Given the description of an element on the screen output the (x, y) to click on. 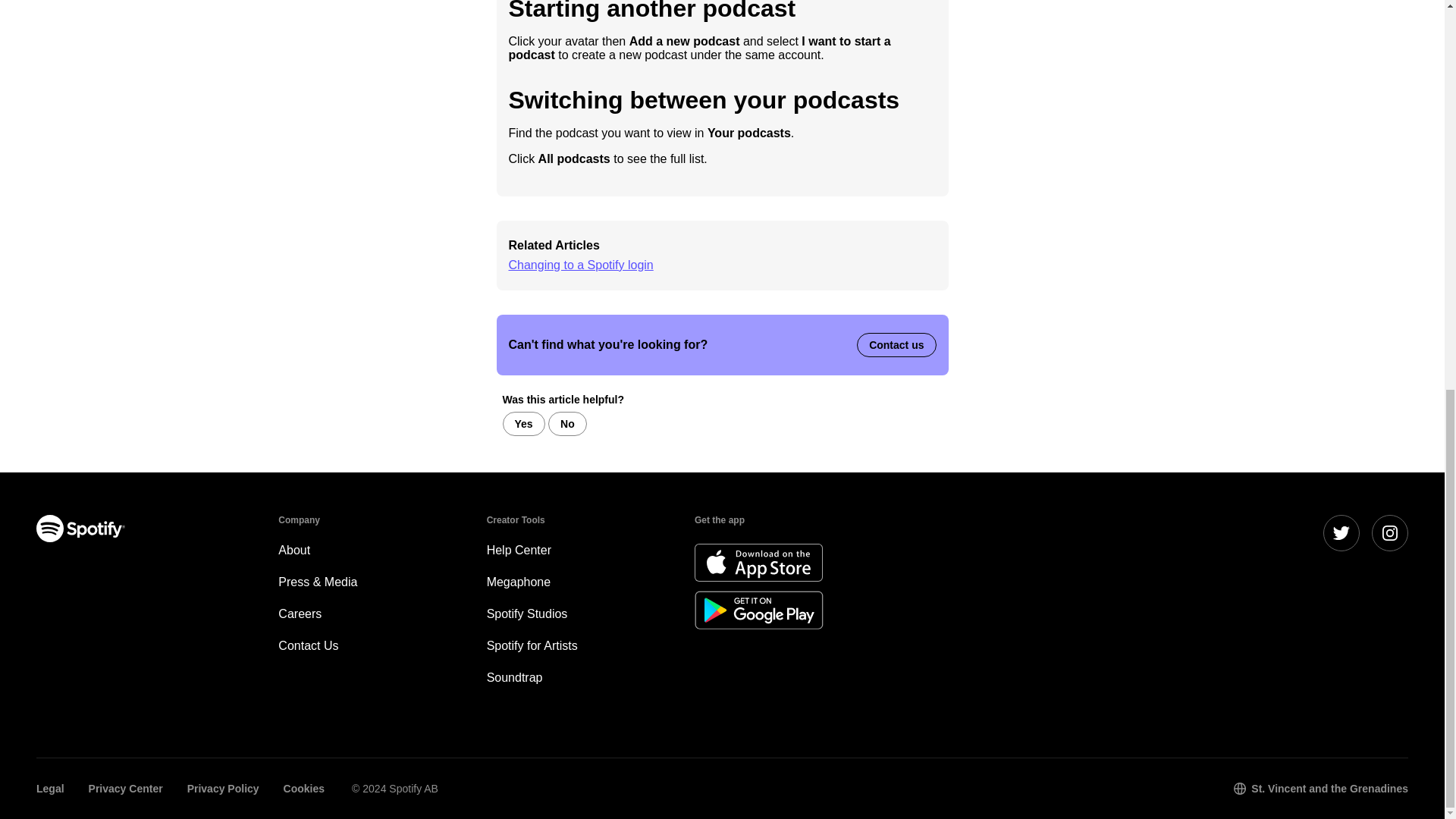
Spotify (138, 599)
About (294, 549)
Contact us (896, 344)
No (567, 423)
Changing to a Spotify login (580, 264)
Yes (523, 423)
Spotify (80, 528)
